Given the description of an element on the screen output the (x, y) to click on. 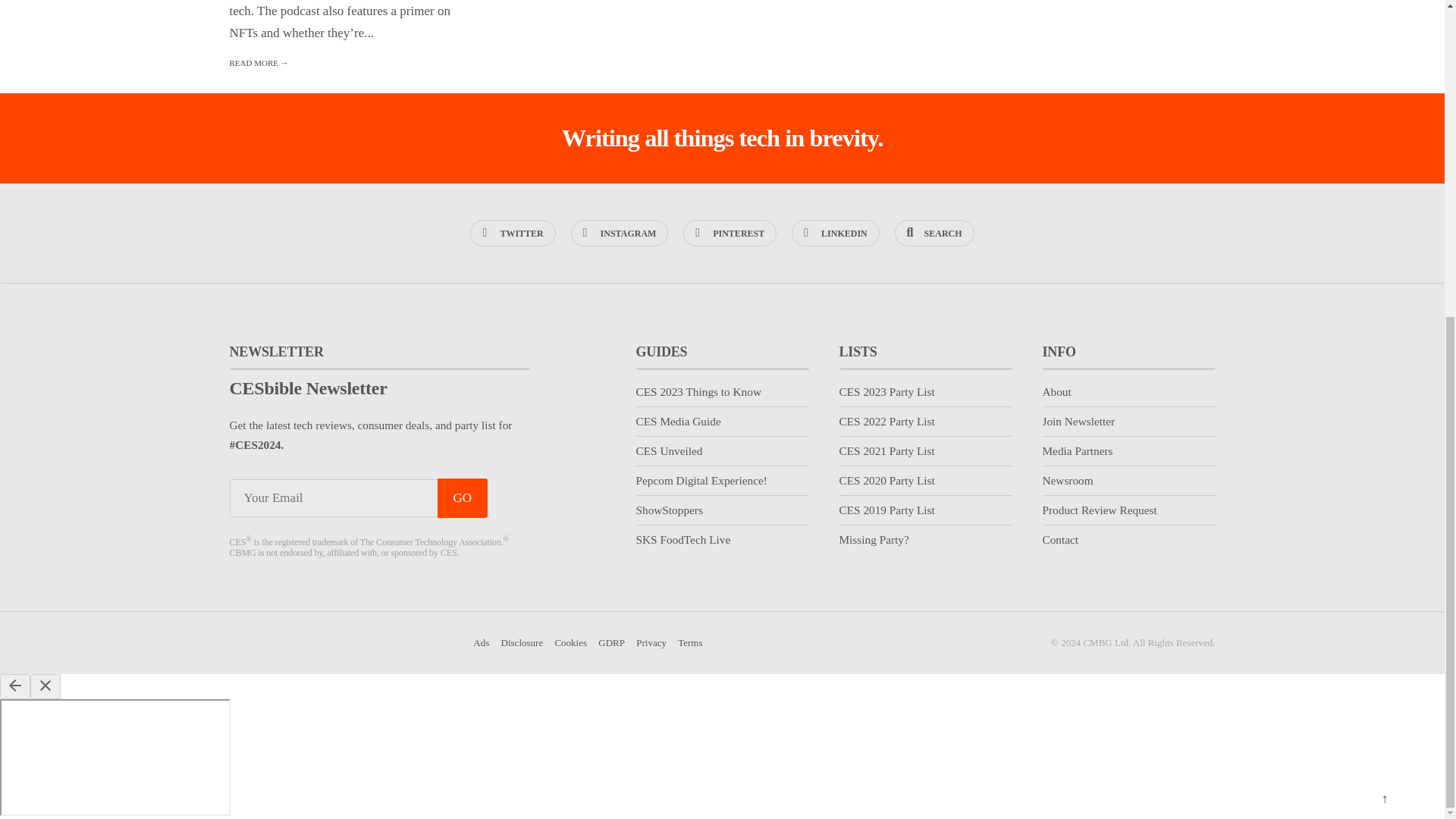
Scroll to top (1384, 291)
Pinterest (729, 233)
LinkedIn (835, 233)
